Given the description of an element on the screen output the (x, y) to click on. 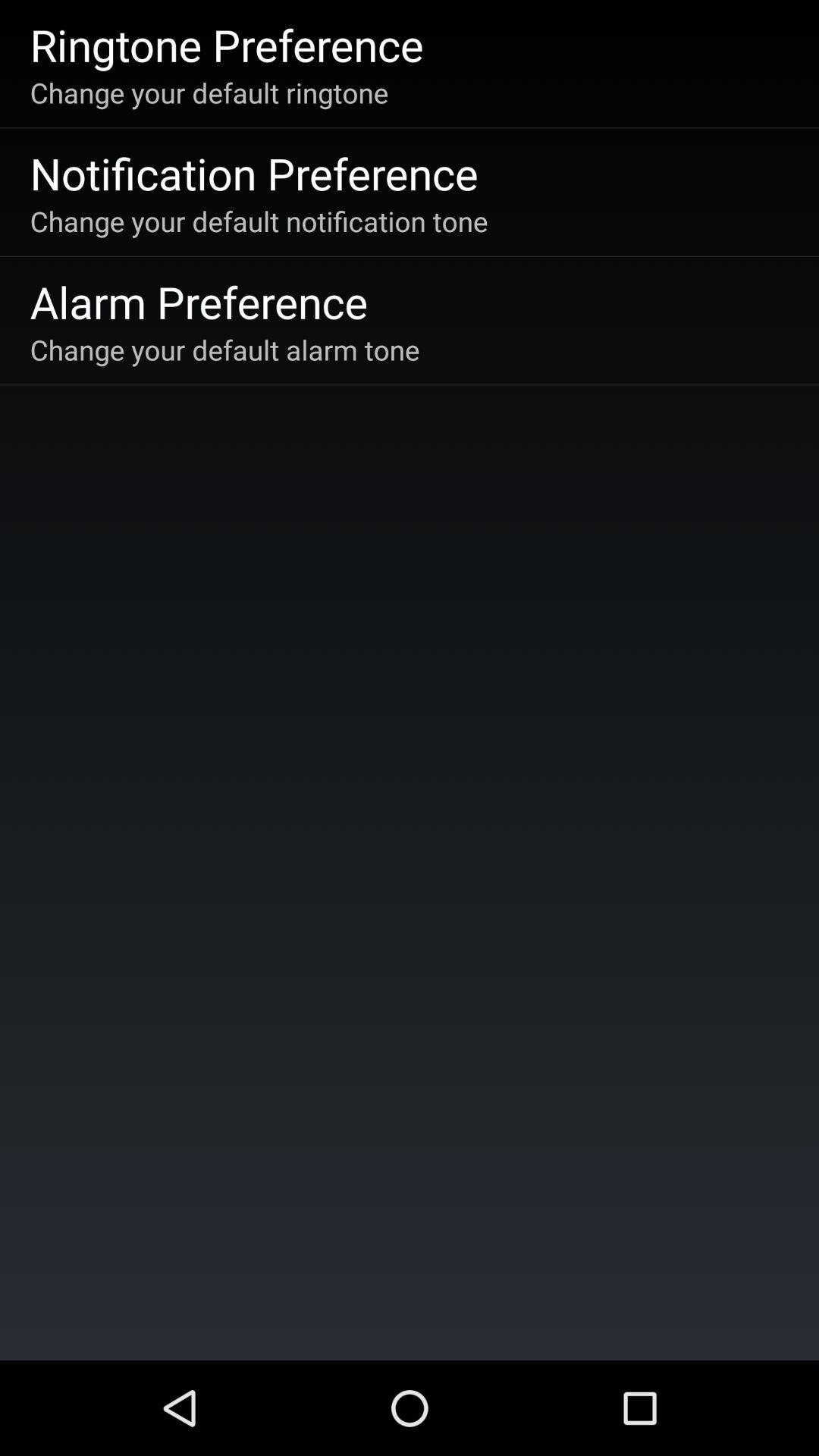
click app above change your default app (254, 172)
